Given the description of an element on the screen output the (x, y) to click on. 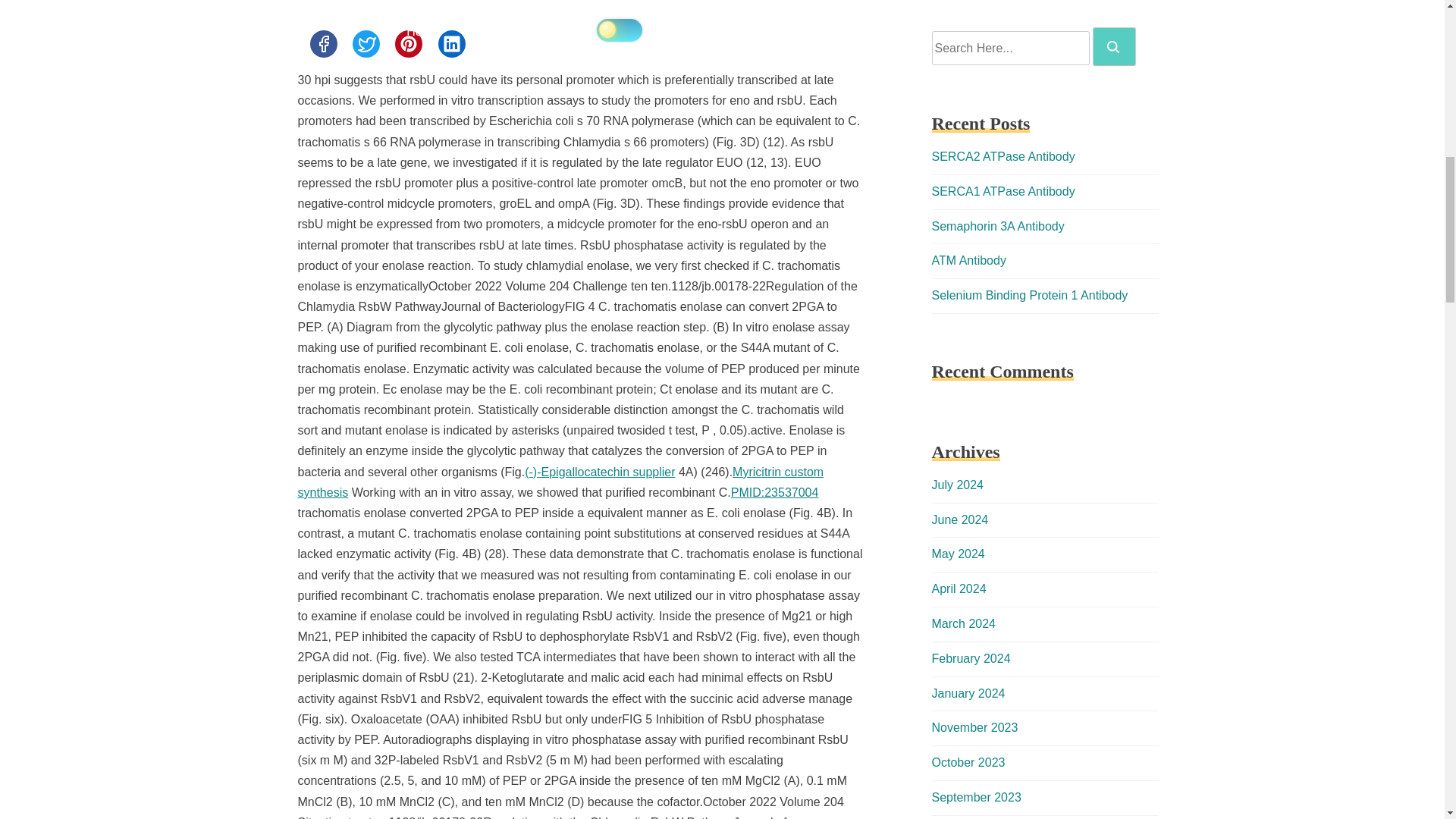
SERCA1 ATPase Antibody (1002, 191)
PMID:23537004 (774, 492)
Share this post on Pinterest (408, 43)
Share this post on Twitter (366, 43)
SERCA2 ATPase Antibody (1002, 155)
Search (1113, 46)
Myricitrin custom synthesis (560, 482)
Share this post on Facebook (322, 43)
Search (1114, 46)
Semaphorin 3A Antibody (997, 226)
Share this post on Linkedin (451, 43)
